Given the description of an element on the screen output the (x, y) to click on. 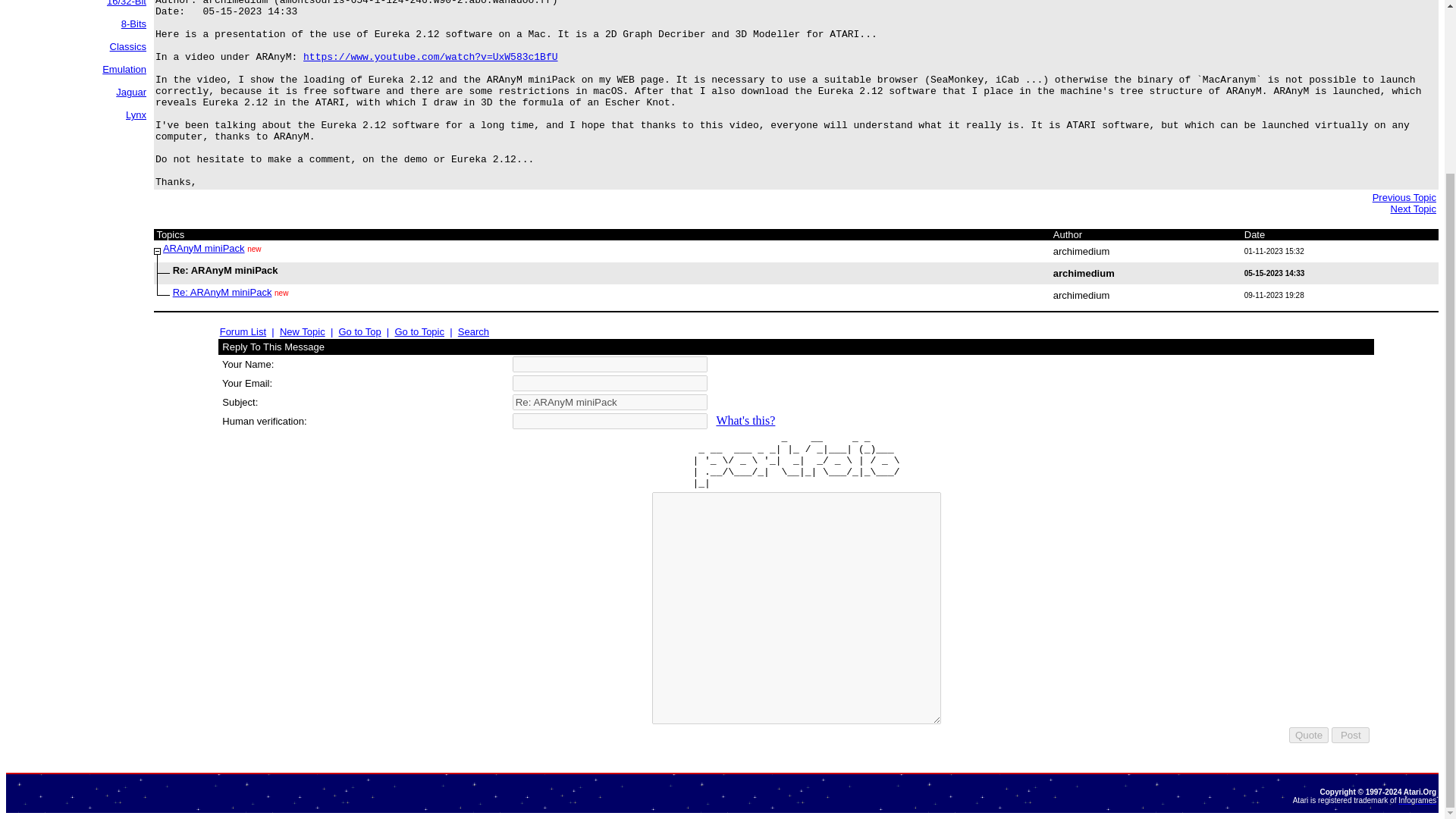
What's this? (745, 420)
8-Bits (133, 23)
 Post  (1351, 734)
Lynx (136, 114)
Next Topic (1412, 208)
Search (473, 331)
Go to Topic (419, 331)
Jaguar (131, 91)
Re: ARAnyM miniPack (609, 401)
Re: ARAnyM miniPack (222, 292)
